Given the description of an element on the screen output the (x, y) to click on. 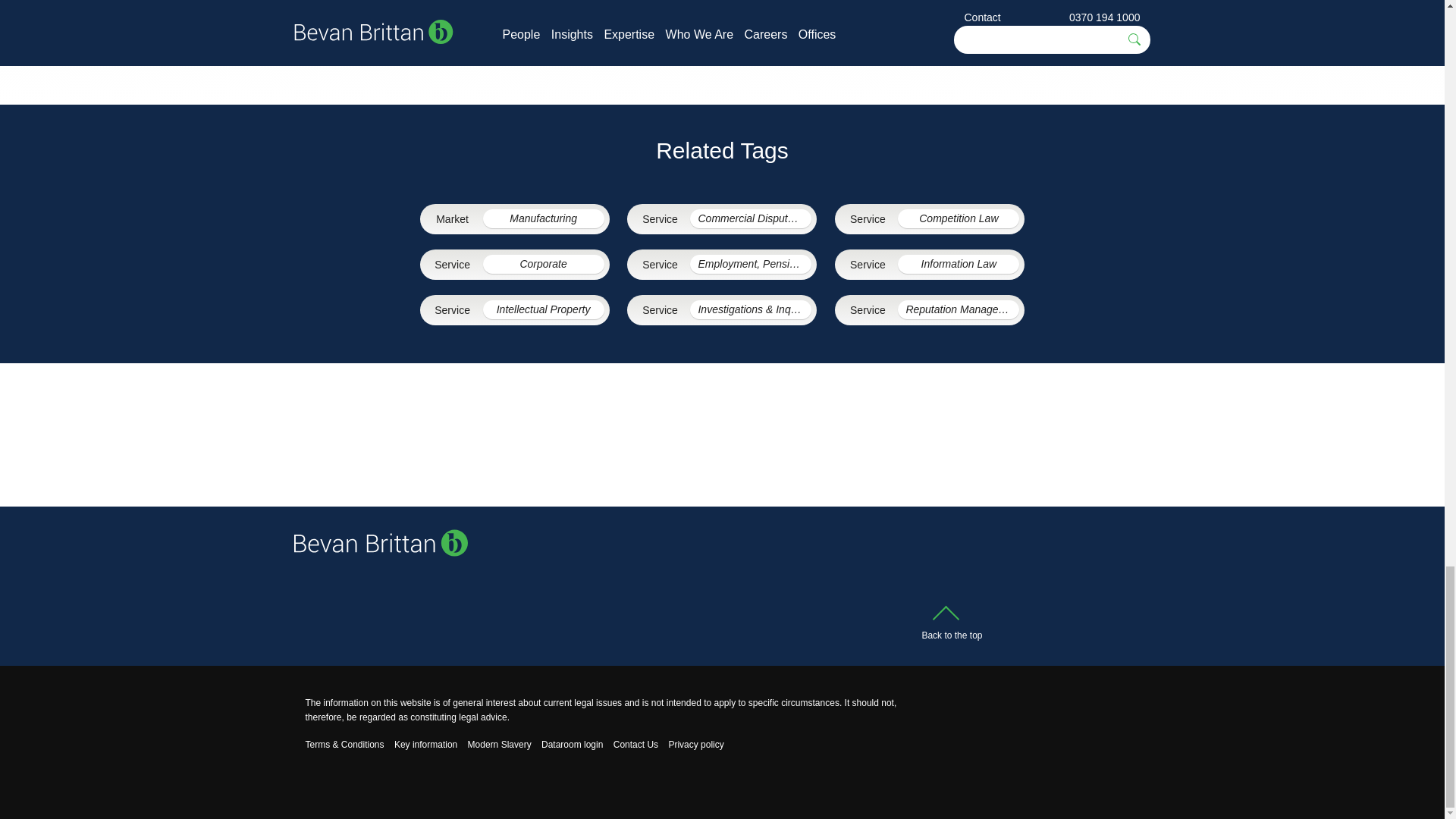
Reputation Management (958, 309)
Corporate (543, 263)
Corporate (543, 263)
READ MORE (1015, 13)
Back to the top (951, 625)
Manufacturing (543, 218)
Commercial Dispute Resolution (750, 218)
READ MORE (722, 13)
Information Law (958, 263)
Commercial Dispute Resolution (750, 218)
